Given the description of an element on the screen output the (x, y) to click on. 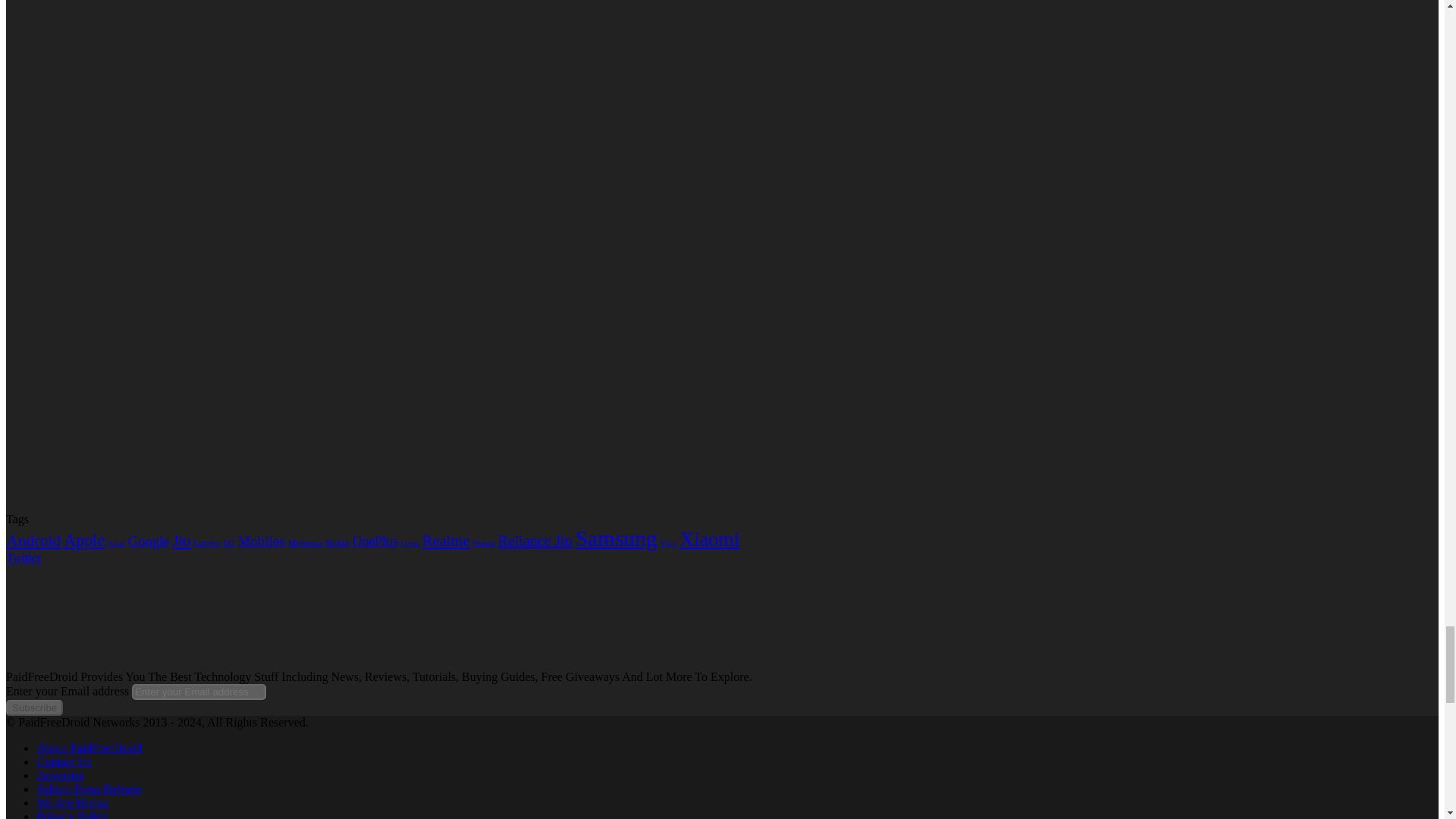
Subscribe (33, 707)
